Given the description of an element on the screen output the (x, y) to click on. 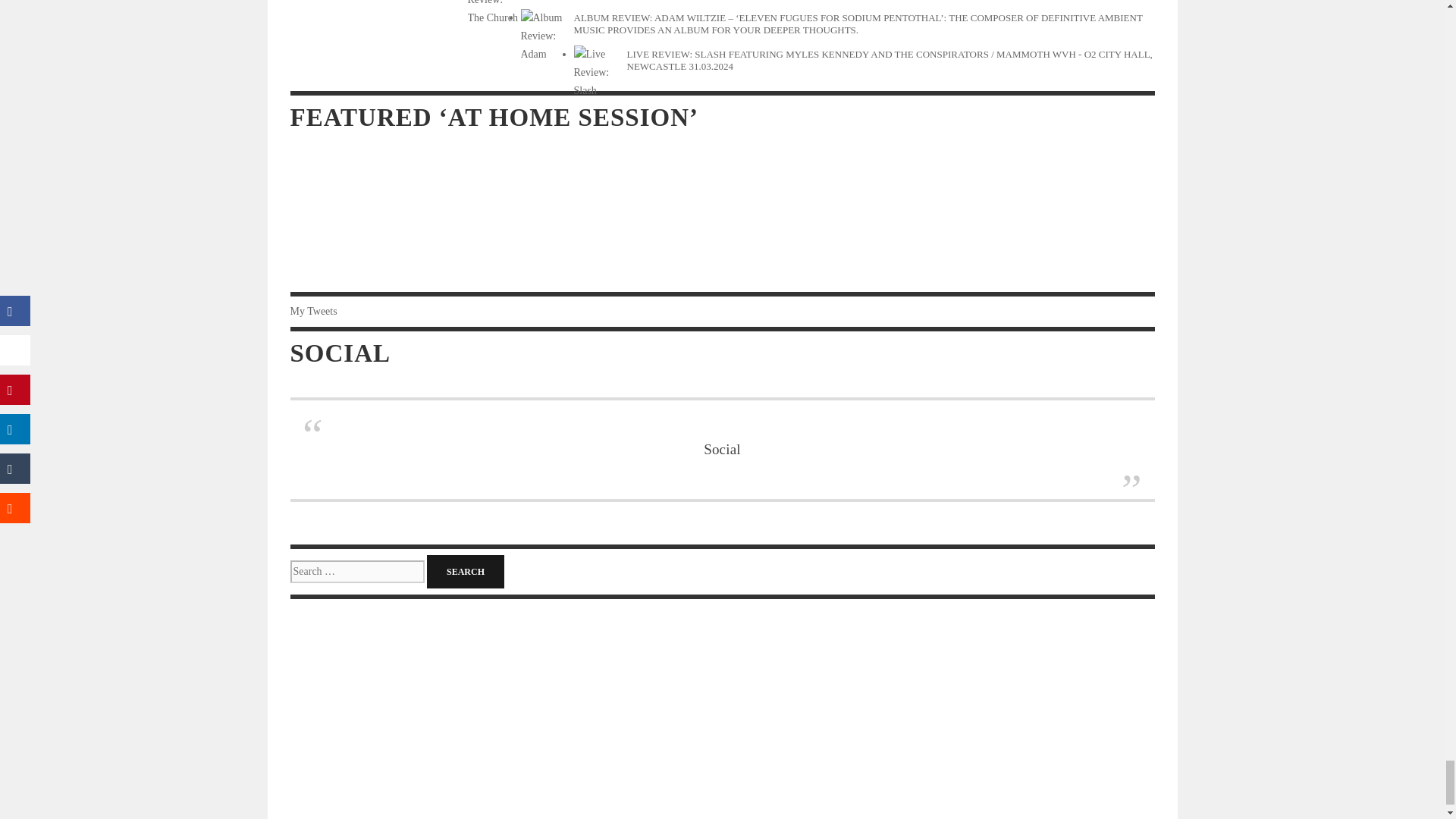
Search (464, 571)
Search (464, 571)
